Given the description of an element on the screen output the (x, y) to click on. 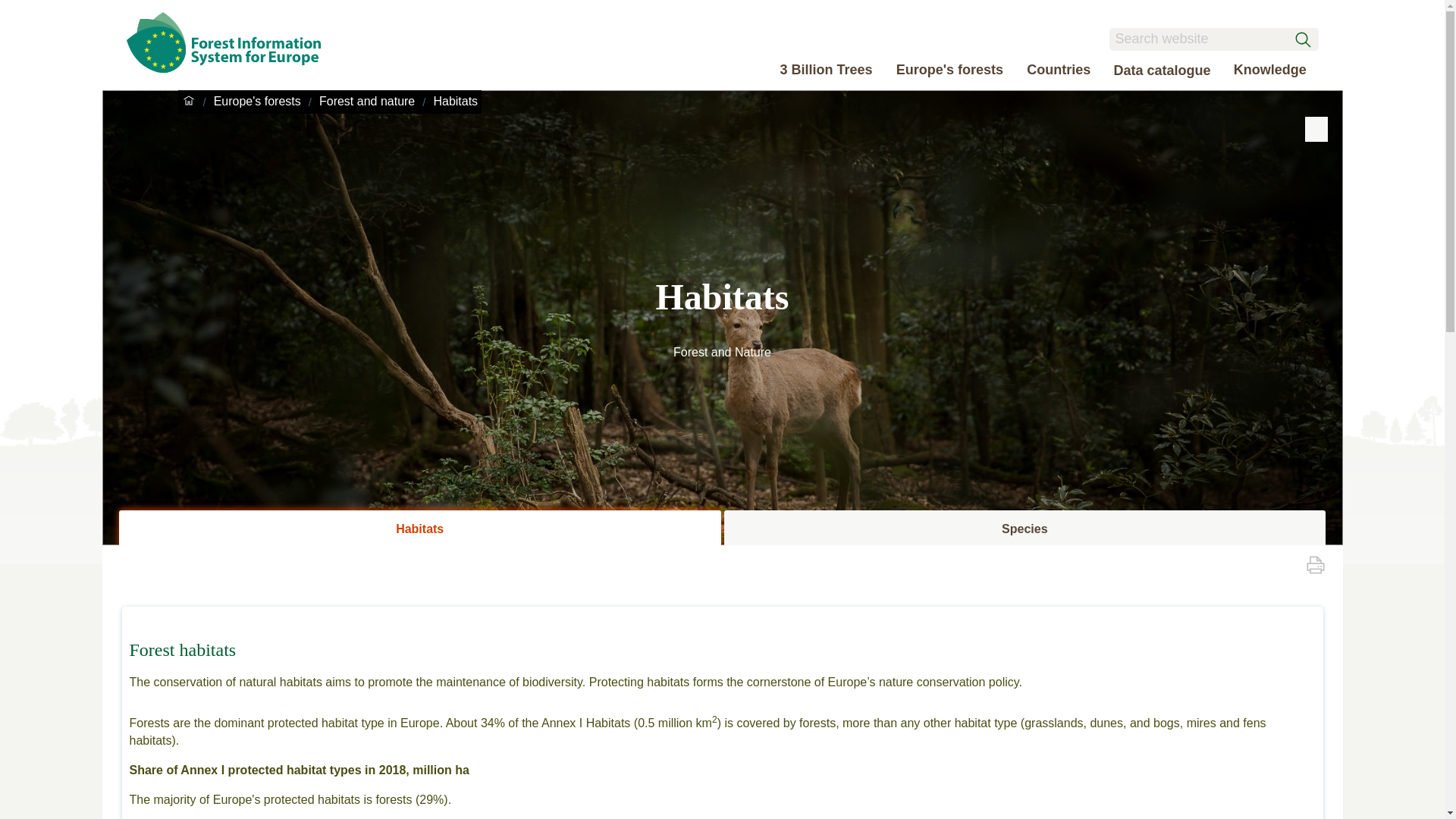
Habitats (419, 529)
Species (1023, 529)
Plone Site (235, 42)
Search (1213, 38)
Site (235, 68)
